Given the description of an element on the screen output the (x, y) to click on. 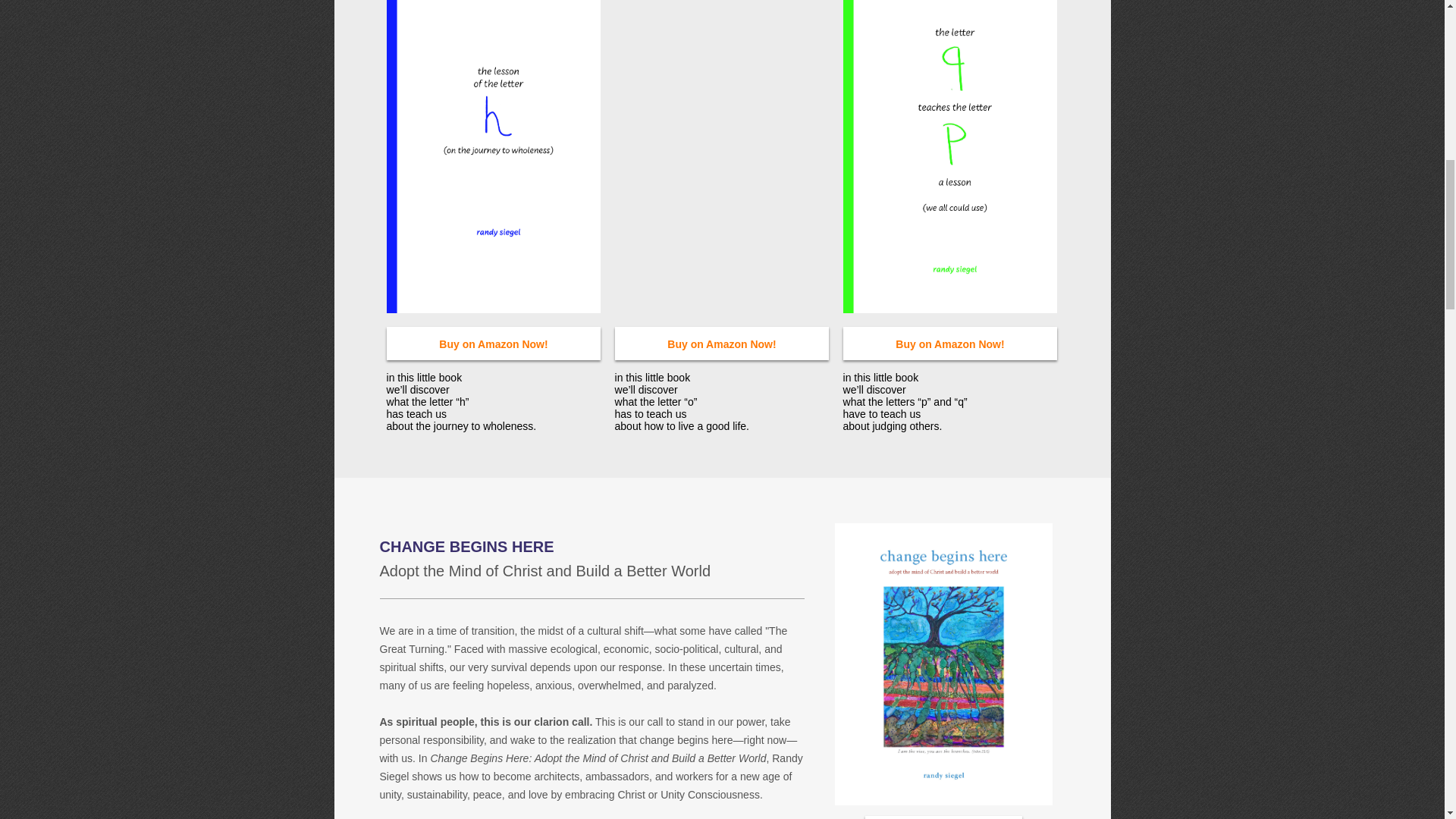
Buy on Amazon Now! (494, 343)
Buy on Amazon Now! (950, 343)
Buy on Amazon Now! (943, 817)
Buy on Amazon Now! (721, 343)
